Given the description of an element on the screen output the (x, y) to click on. 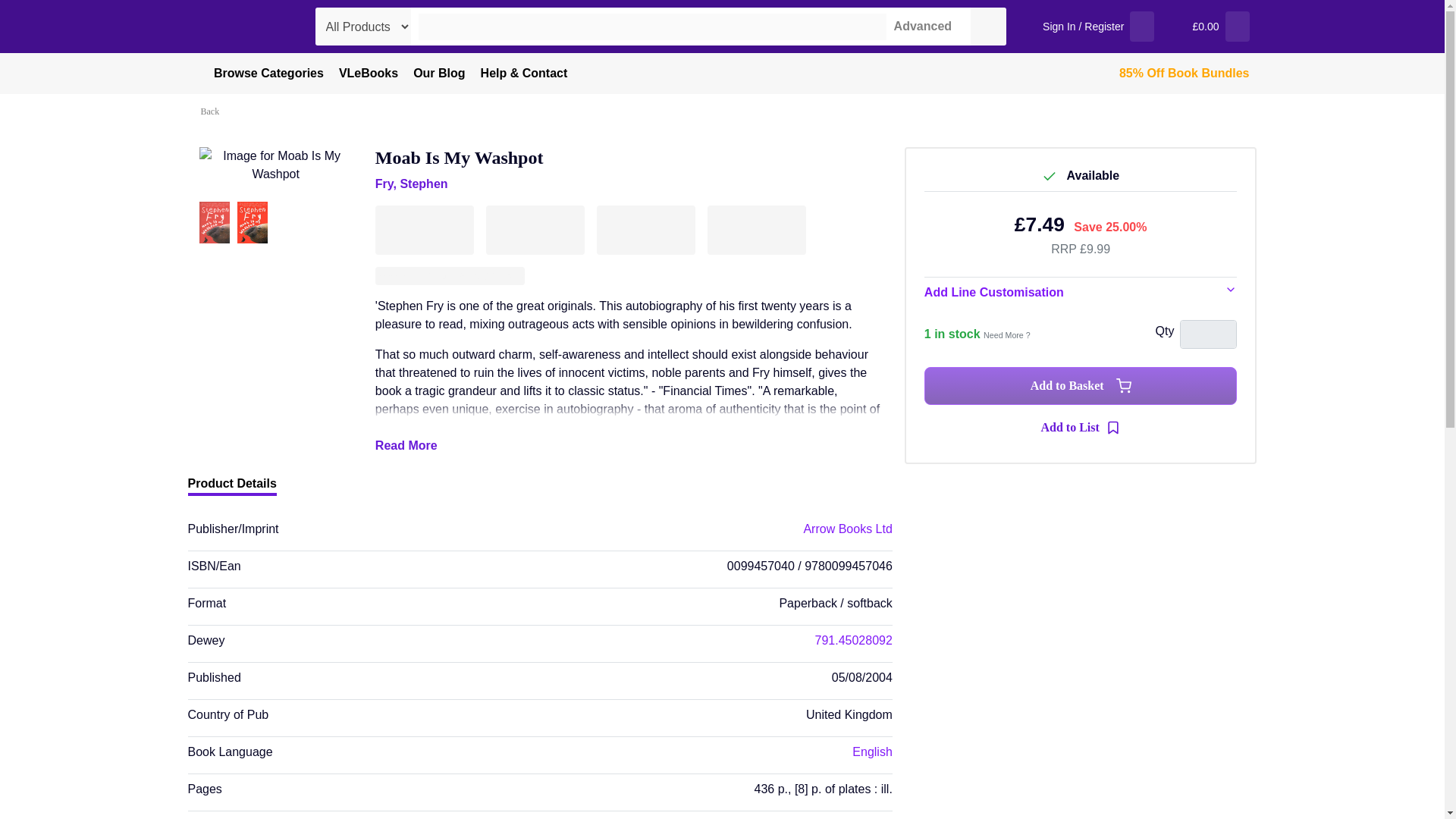
Advanced (919, 26)
Browse Categories (259, 73)
Our Blog (438, 73)
Back (212, 110)
VLeBooks (368, 73)
